Given the description of an element on the screen output the (x, y) to click on. 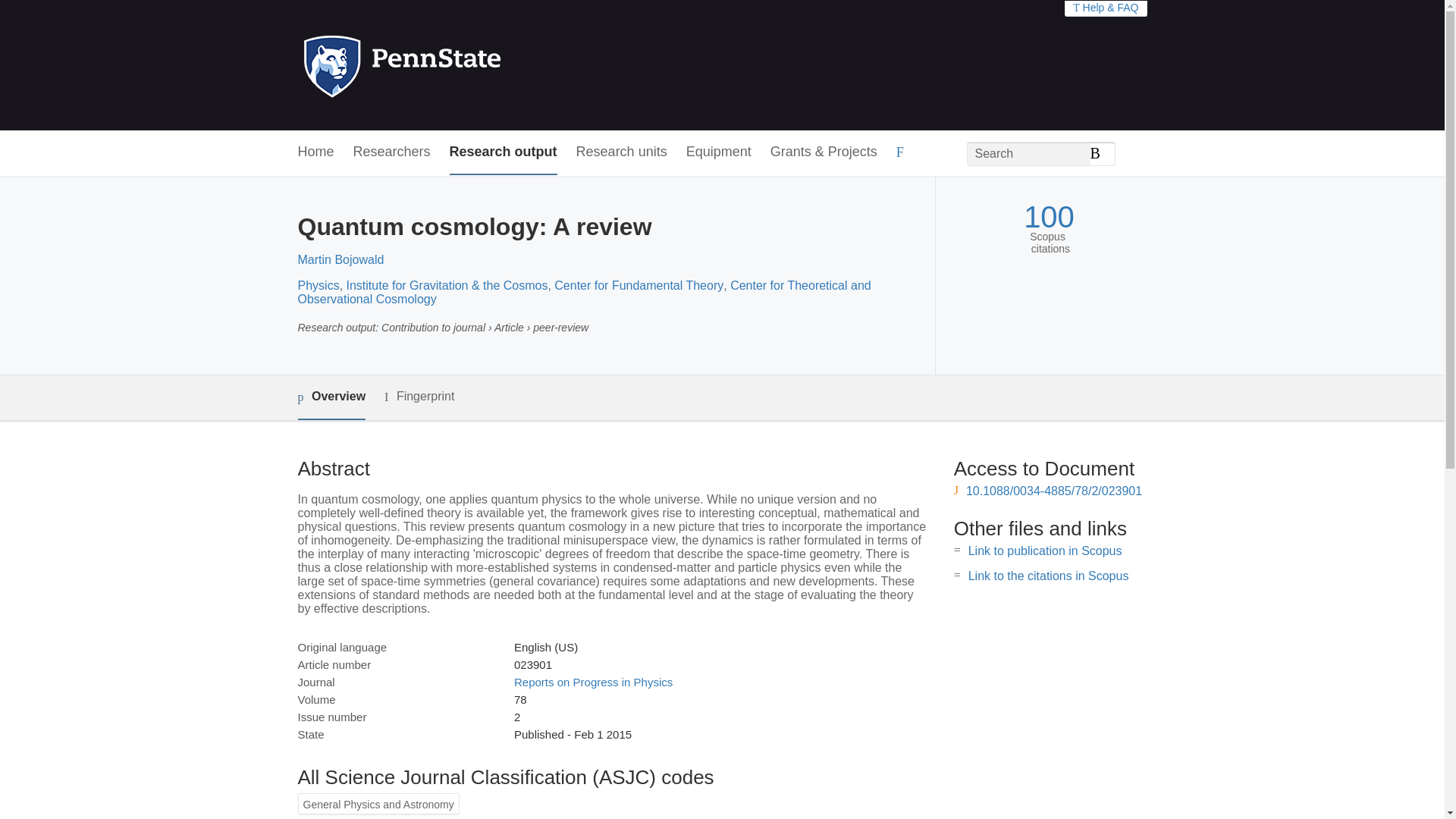
Martin Bojowald (340, 259)
Research units (621, 152)
Link to publication in Scopus (1045, 550)
Equipment (718, 152)
Physics (318, 285)
Penn State Home (467, 65)
Fingerprint (419, 396)
Center for Theoretical and Observational Cosmology (583, 292)
Researchers (391, 152)
Research output (503, 152)
Reports on Progress in Physics (592, 681)
Overview (331, 397)
100 (1048, 216)
Link to the citations in Scopus (1048, 575)
